Given the description of an element on the screen output the (x, y) to click on. 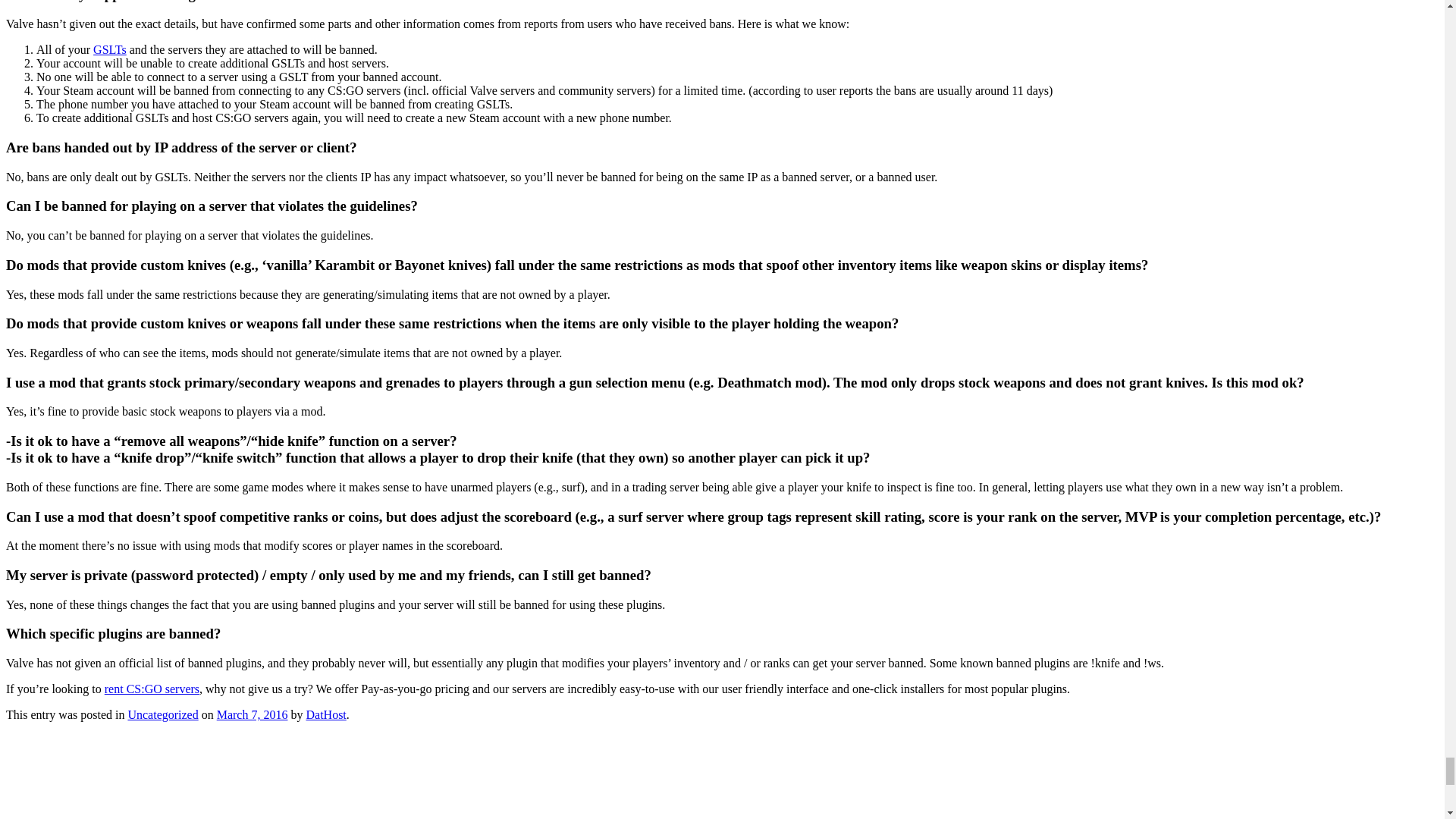
rent CS:GO servers (151, 688)
Uncategorized (163, 714)
March 7, 2016 (252, 714)
10:47 pm (252, 714)
GSLTs (109, 49)
DatHost (325, 714)
View all posts by DatHost (325, 714)
